Given the description of an element on the screen output the (x, y) to click on. 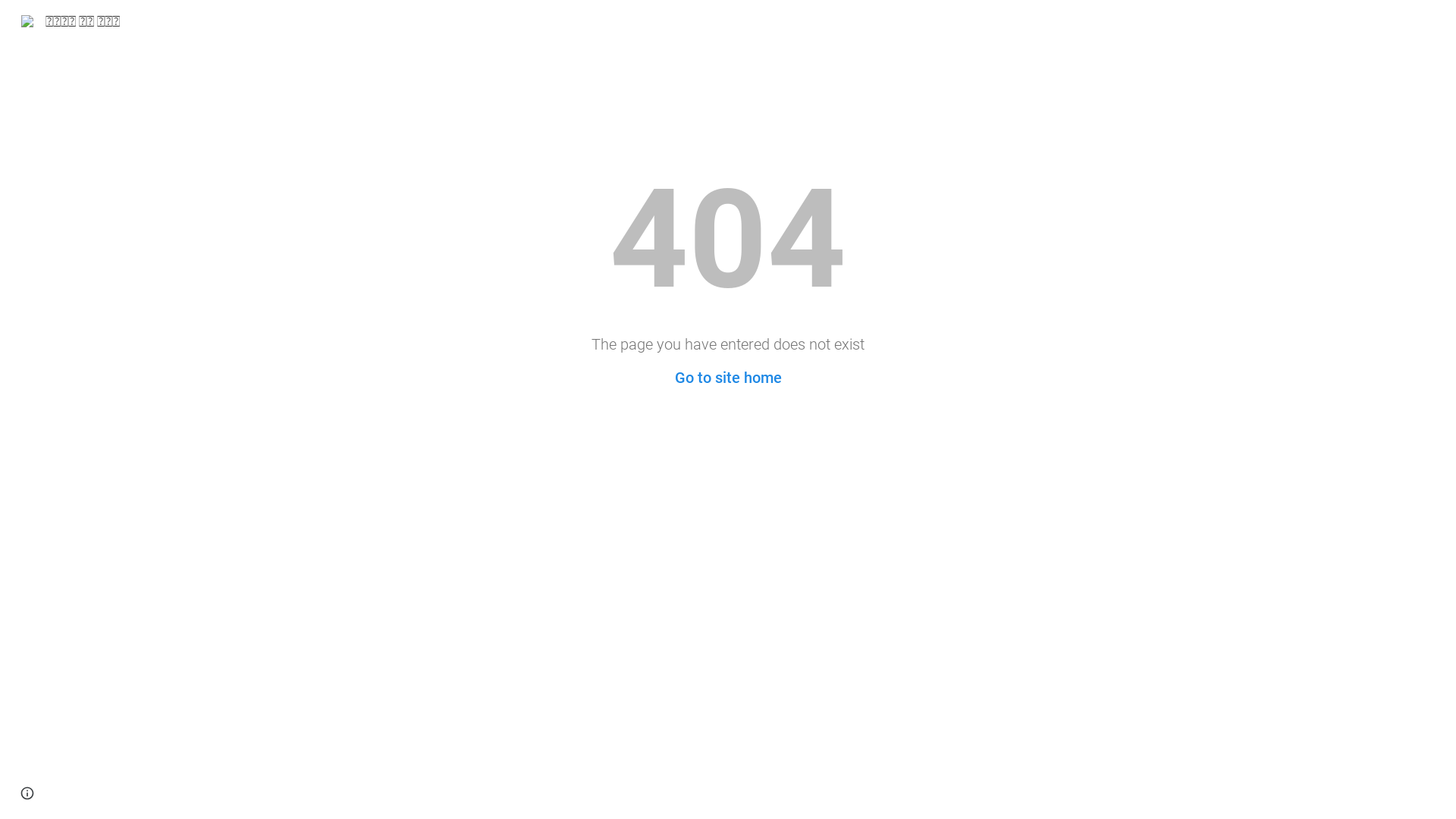
Go to site home Element type: text (727, 377)
